Given the description of an element on the screen output the (x, y) to click on. 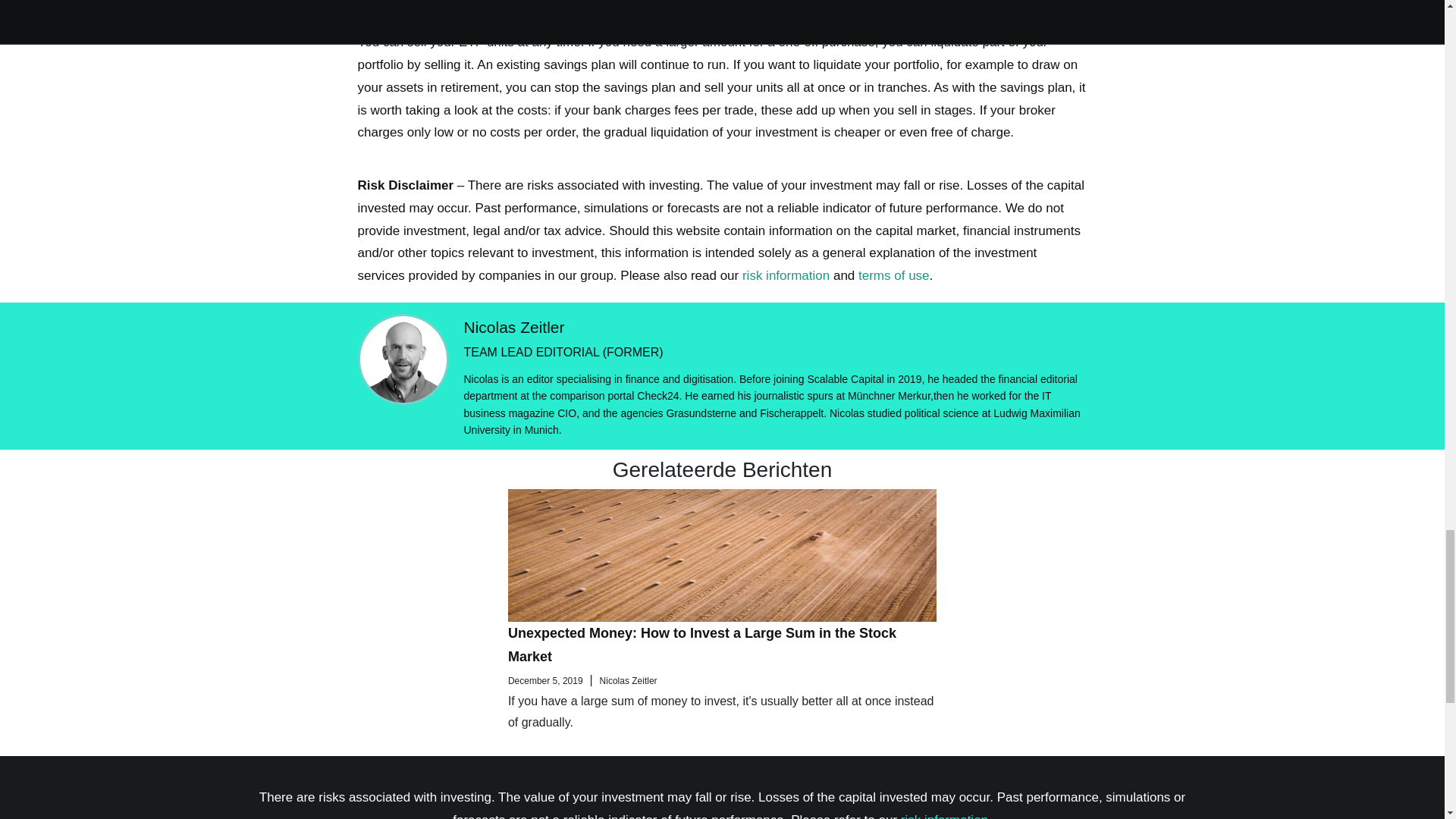
terms of use (894, 275)
risk information (944, 816)
risk information (785, 275)
